Given the description of an element on the screen output the (x, y) to click on. 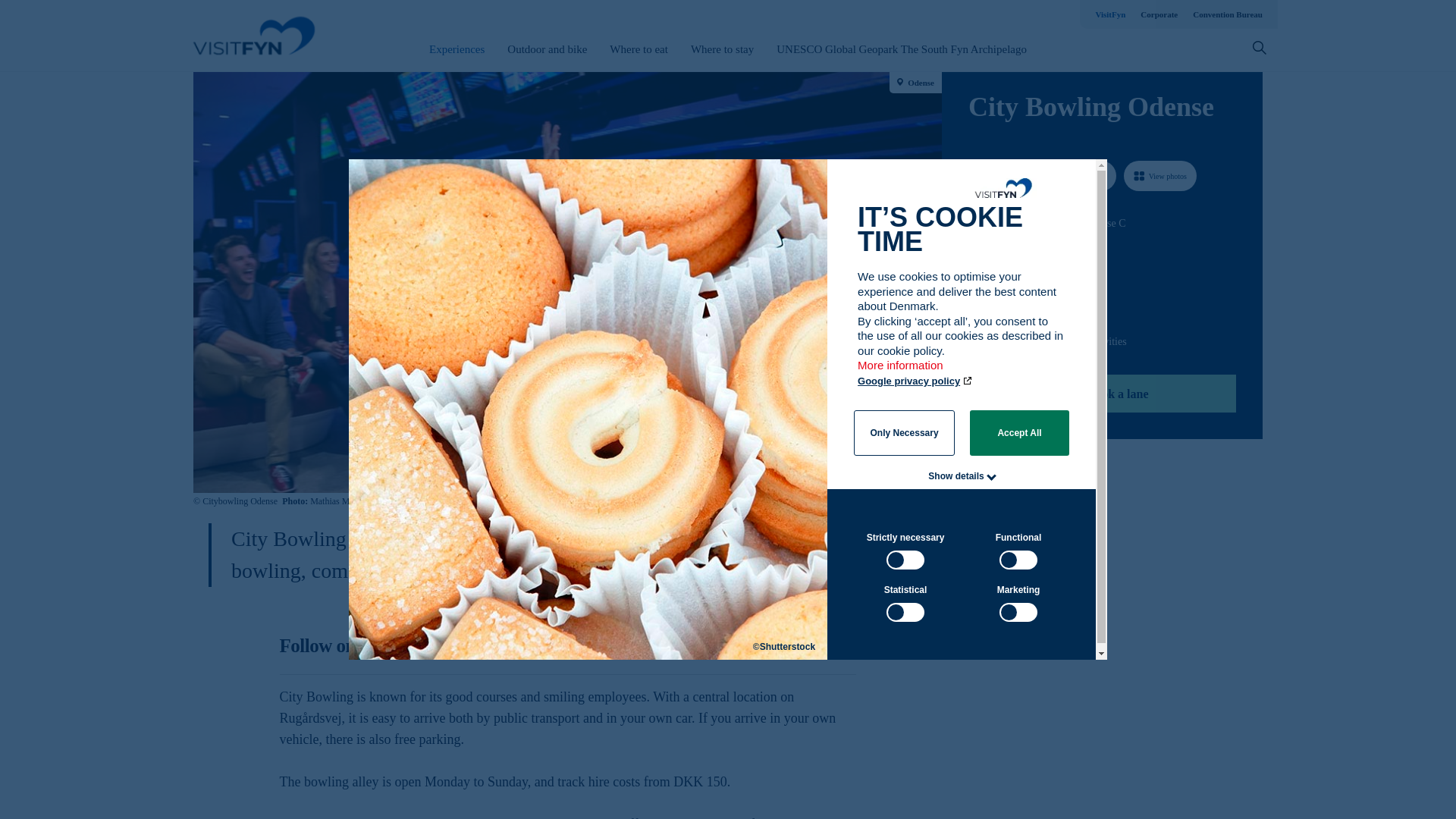
More information (900, 372)
Google privacy policy (915, 380)
Path (973, 310)
Only Necessary (904, 432)
Accept All (1018, 432)
Path (973, 250)
Show details (956, 475)
